Given the description of an element on the screen output the (x, y) to click on. 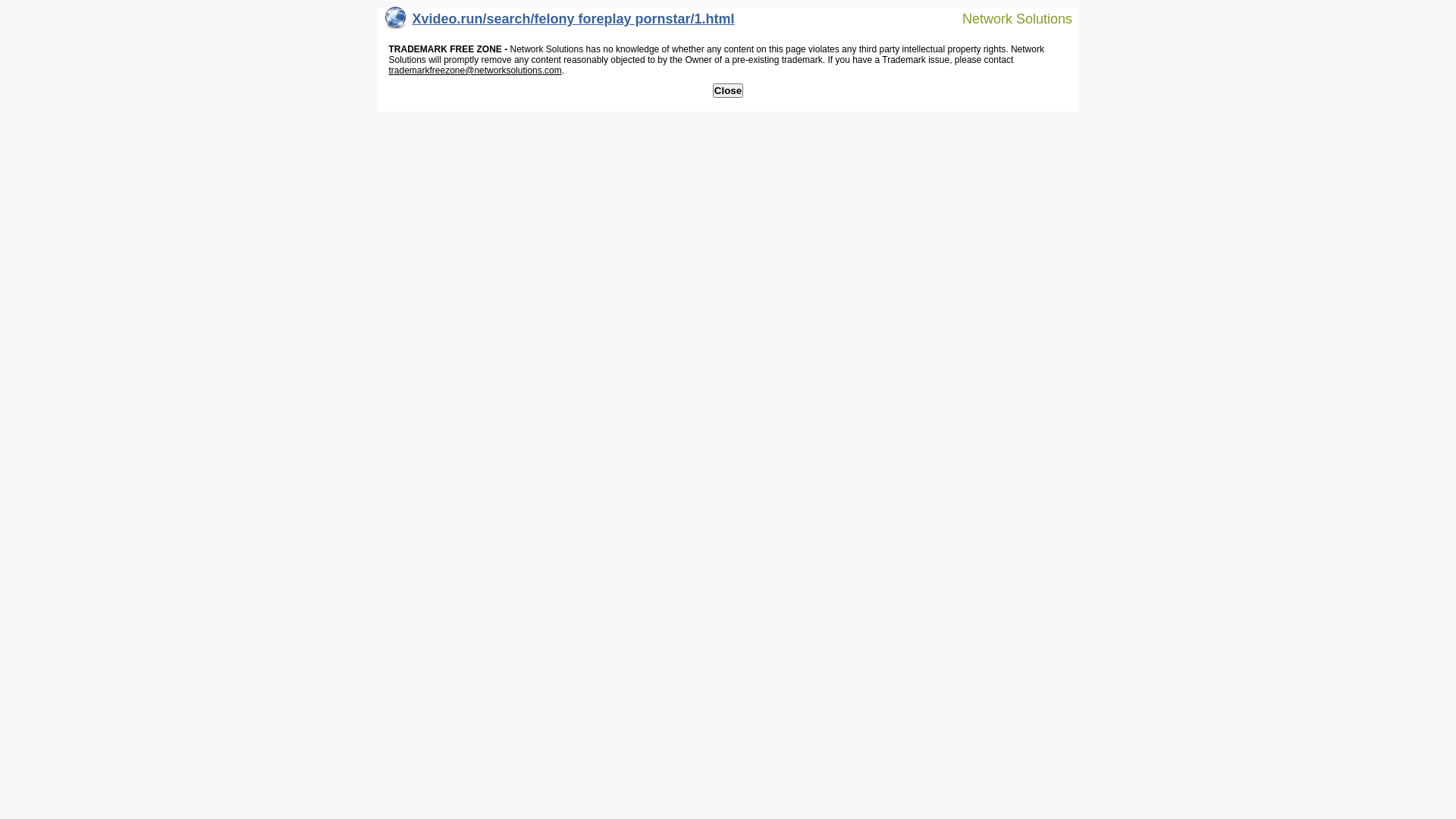
Xvideo.run/search/felony foreplay pornstar/1.html Element type: text (559, 21)
Close Element type: text (727, 90)
trademarkfreezone@networksolutions.com Element type: text (474, 70)
Network Solutions Element type: text (1007, 17)
